Given the description of an element on the screen output the (x, y) to click on. 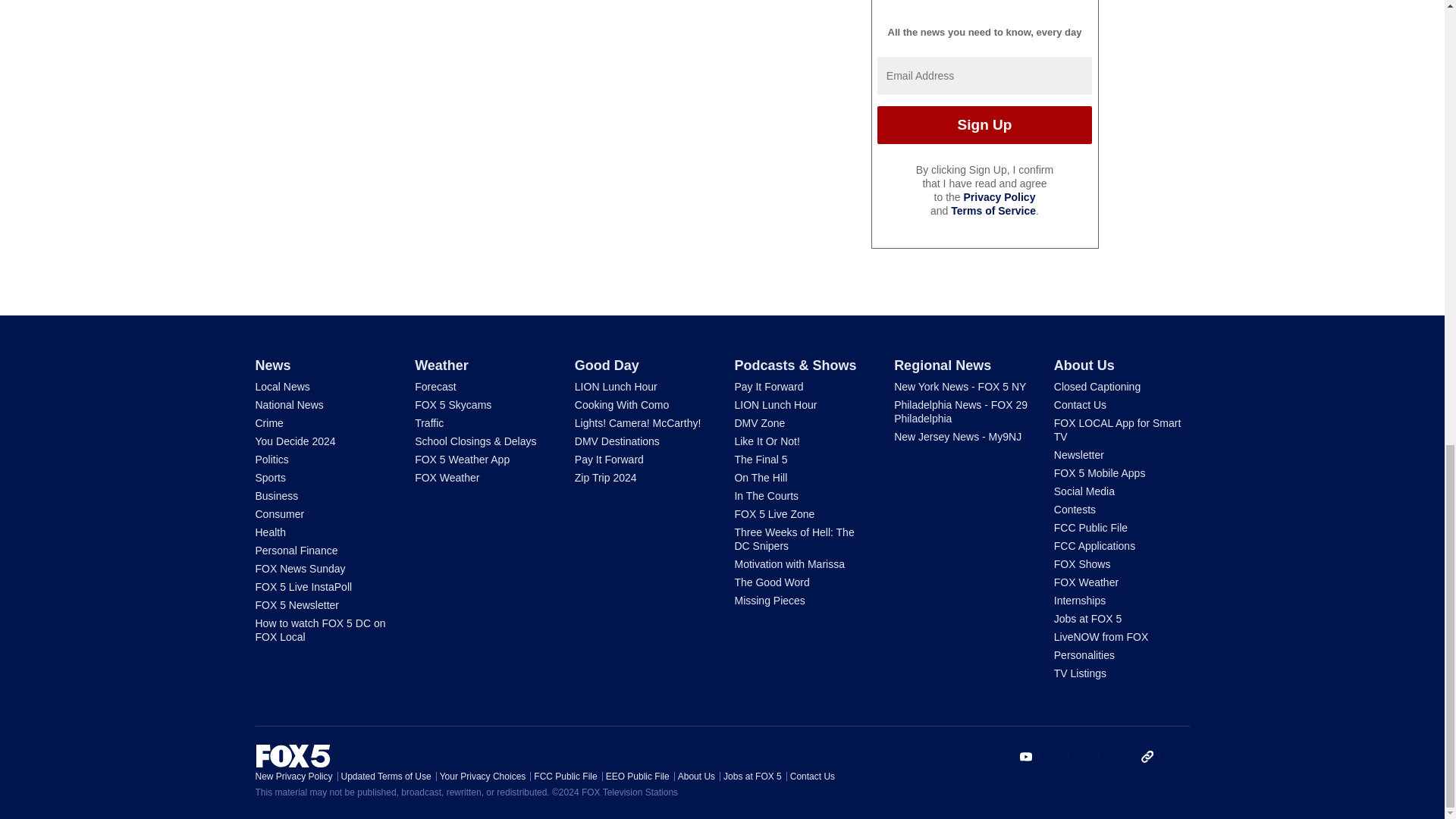
Sign Up (984, 125)
